Given the description of an element on the screen output the (x, y) to click on. 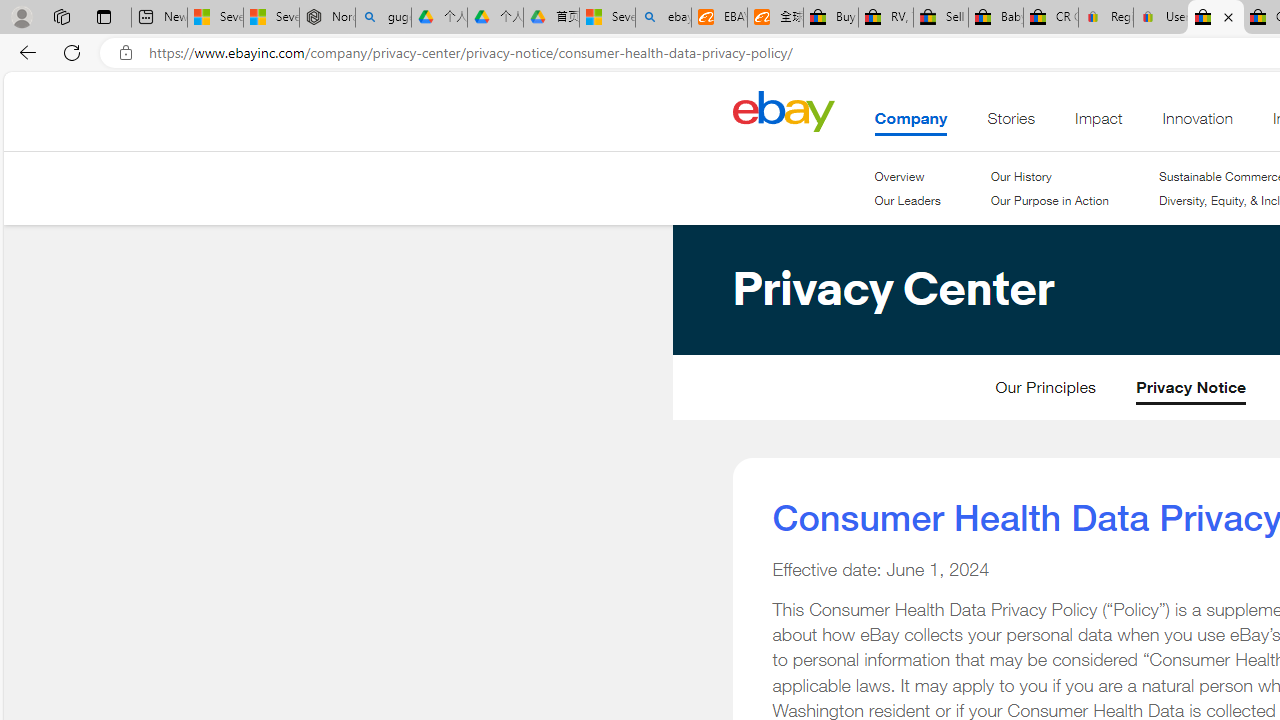
Company . This is the current section. (911, 123)
